Given the description of an element on the screen output the (x, y) to click on. 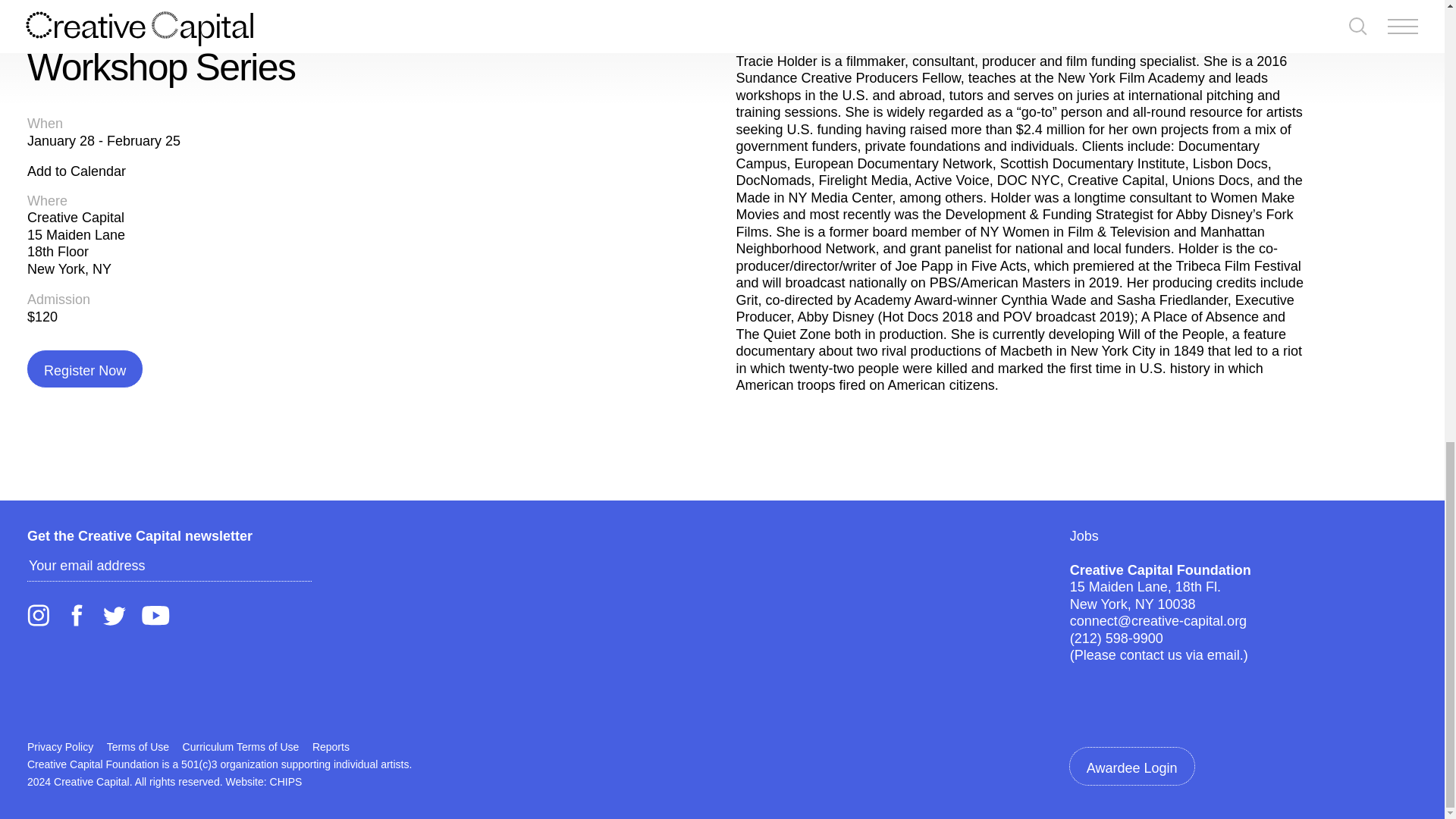
Curriculum Terms of Use (241, 746)
Awardee Login (1131, 765)
Reports (331, 746)
Terms of Use (137, 746)
Jobs (1084, 535)
CHIPS (285, 781)
Privacy Policy (60, 746)
